Given the description of an element on the screen output the (x, y) to click on. 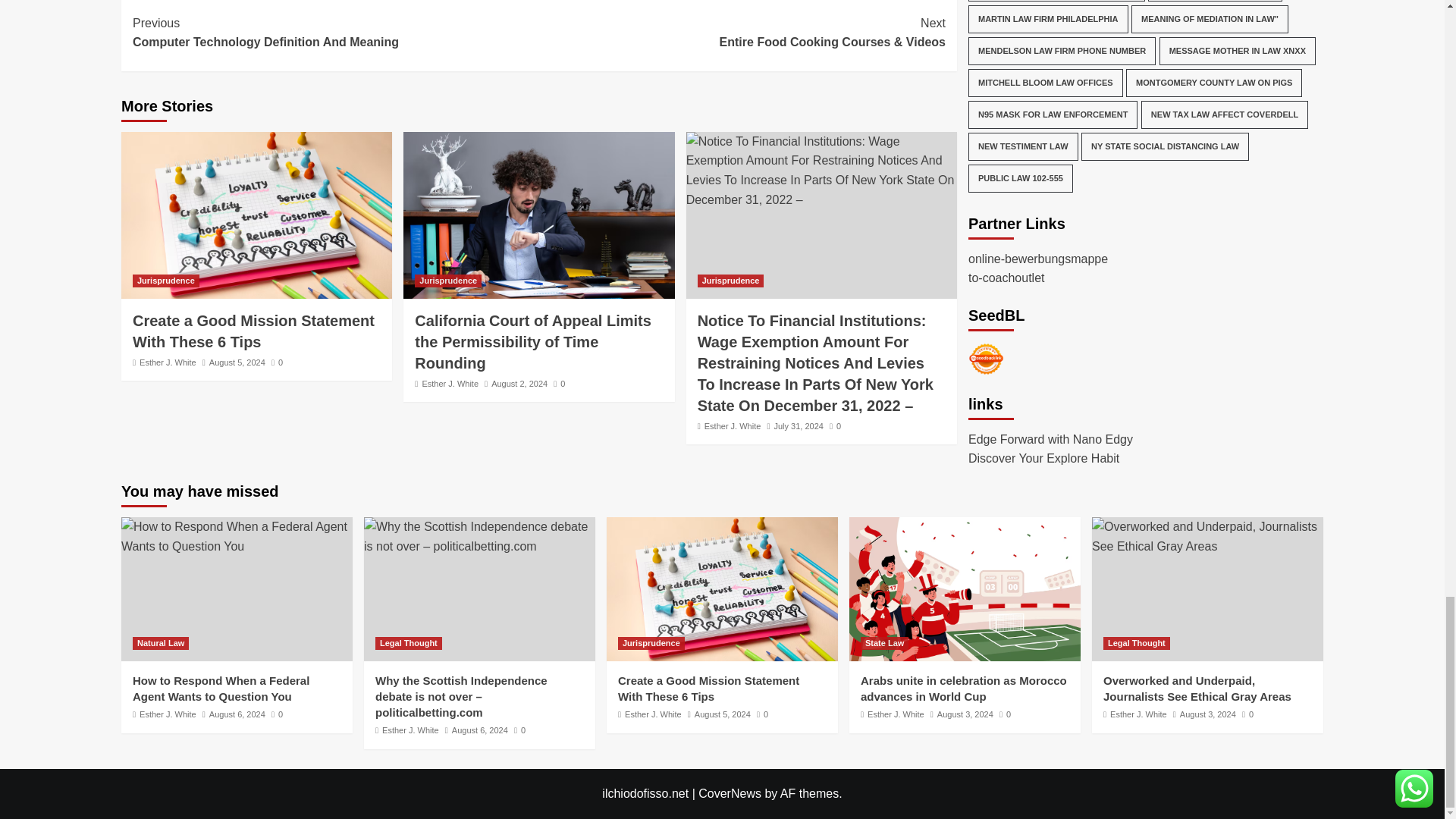
Jurisprudence (165, 280)
Create a Good Mission Statement With These 6 Tips (253, 331)
Esther J. White (167, 361)
Create a Good Mission Statement With These 6 Tips (255, 214)
August 5, 2024 (236, 361)
